Given the description of an element on the screen output the (x, y) to click on. 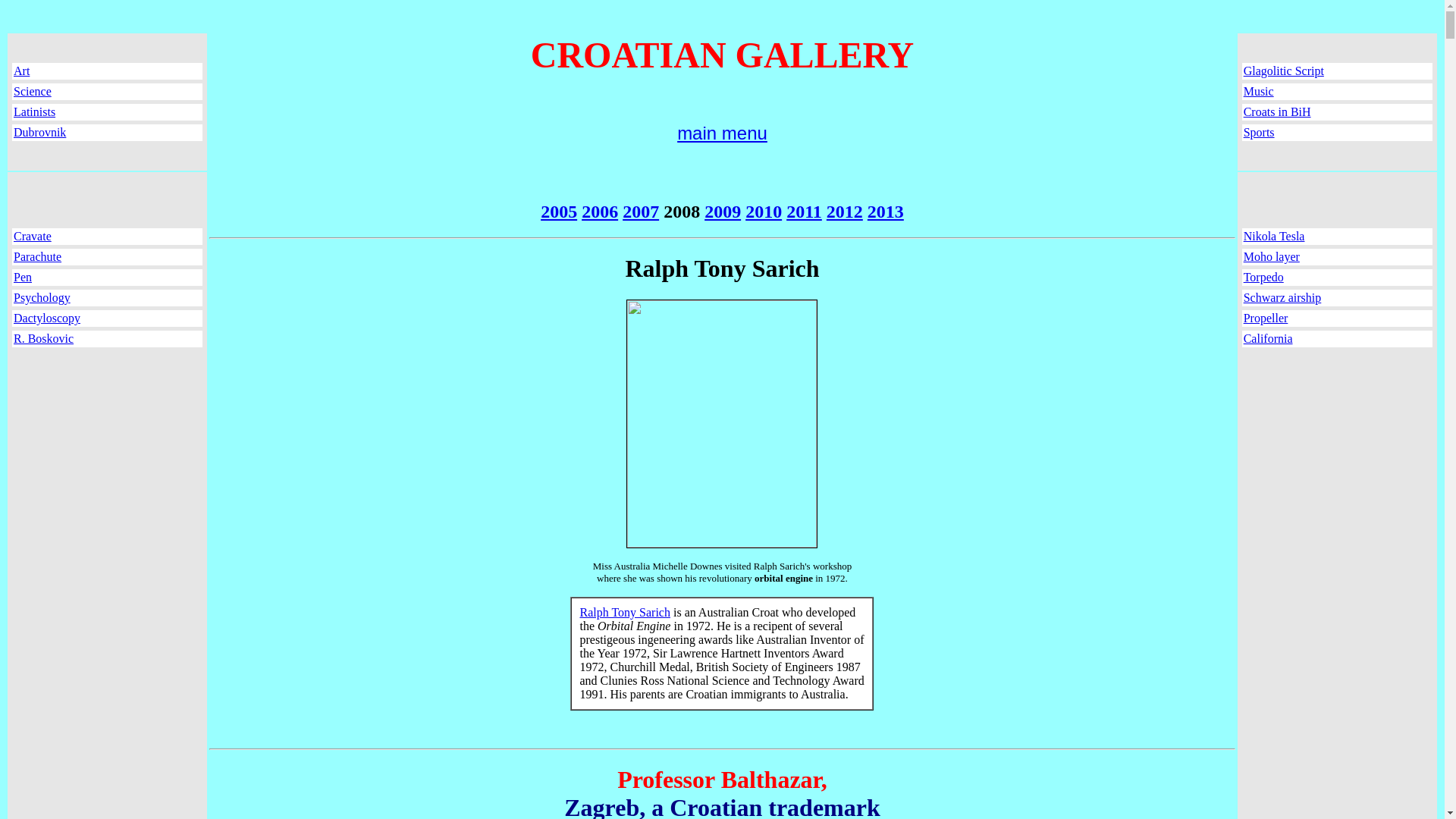
2011 (804, 211)
Cravate (31, 236)
2012 (845, 211)
Sports (1259, 132)
2013 (885, 211)
2006 (598, 211)
Ralph Tony Sarich (624, 612)
Science (31, 91)
Parachute (37, 256)
2005 (558, 211)
2009 (722, 211)
Pen (22, 277)
Glagolitic Script (1283, 70)
main menu (722, 132)
2010 (763, 211)
